Given the description of an element on the screen output the (x, y) to click on. 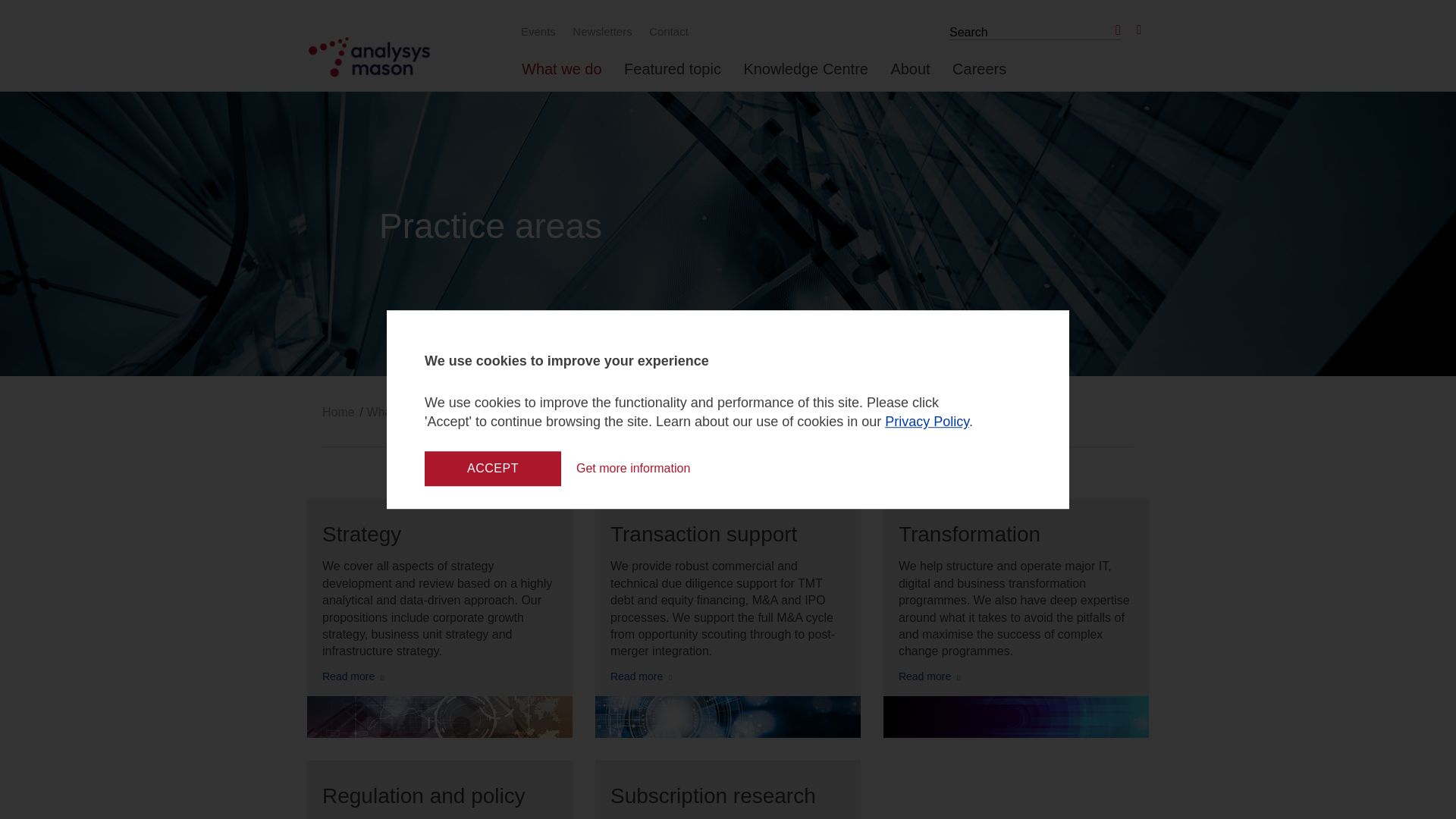
Newsletters (599, 31)
Featured topic (672, 75)
Search (1115, 29)
Privacy Policy (927, 421)
Knowledge Centre (805, 75)
Contact (666, 31)
Events (536, 31)
About (909, 75)
Careers (978, 75)
What we do (561, 75)
